Given the description of an element on the screen output the (x, y) to click on. 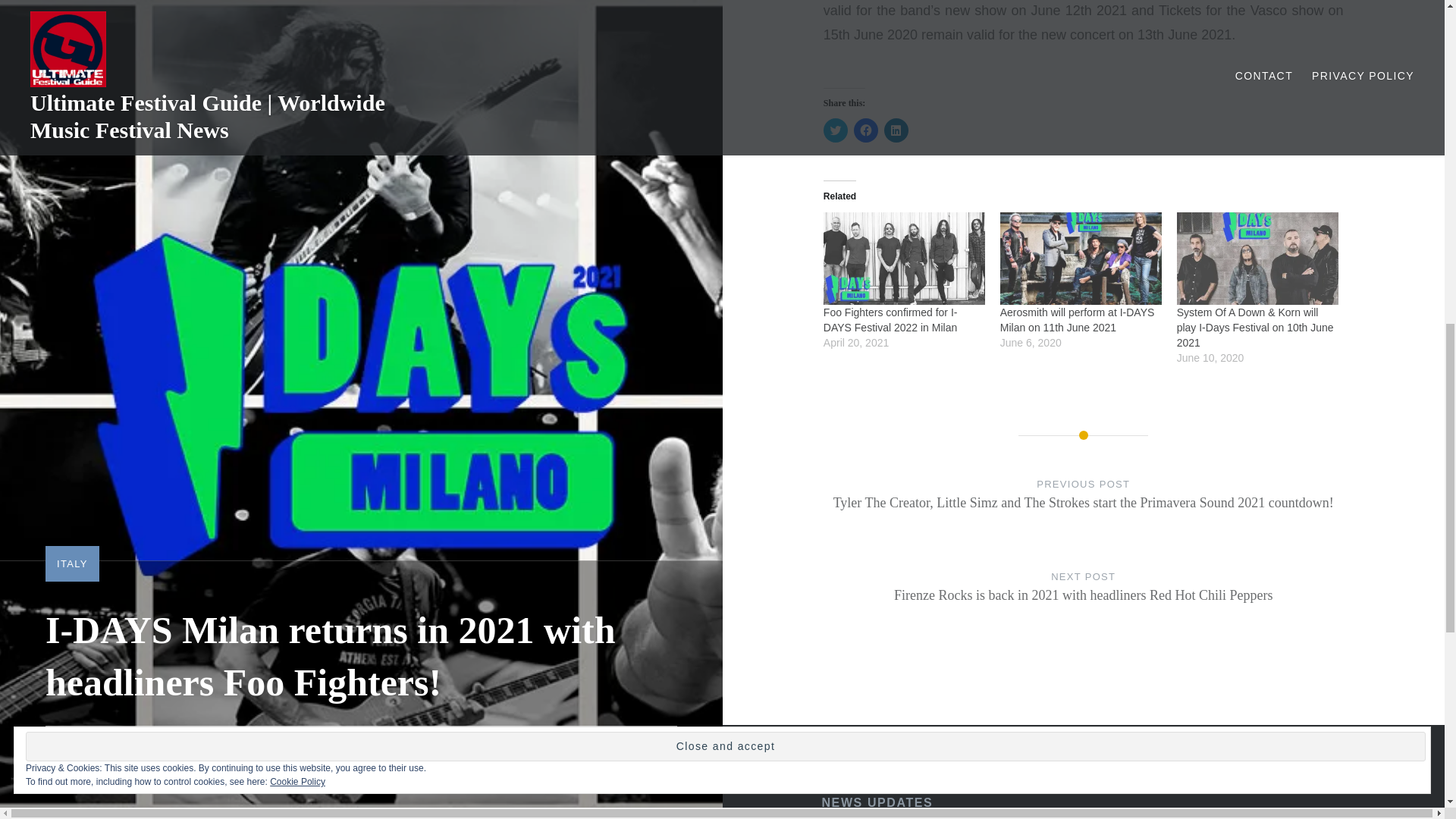
Click to share on Facebook (865, 129)
Foo Fighters confirmed for I-DAYS Festival 2022 in Milan (904, 258)
Aerosmith will perform at I-DAYS Milan on 11th June 2021 (1077, 319)
Foo Fighters confirmed for I-DAYS Festival 2022 in Milan (891, 319)
Click to share on Twitter (835, 129)
Click to share on LinkedIn (895, 129)
Aerosmith will perform at I-DAYS Milan on 11th June 2021 (1080, 258)
Aerosmith will perform at I-DAYS Milan on 11th June 2021 (1077, 319)
Foo Fighters confirmed for I-DAYS Festival 2022 in Milan (891, 319)
